Given the description of an element on the screen output the (x, y) to click on. 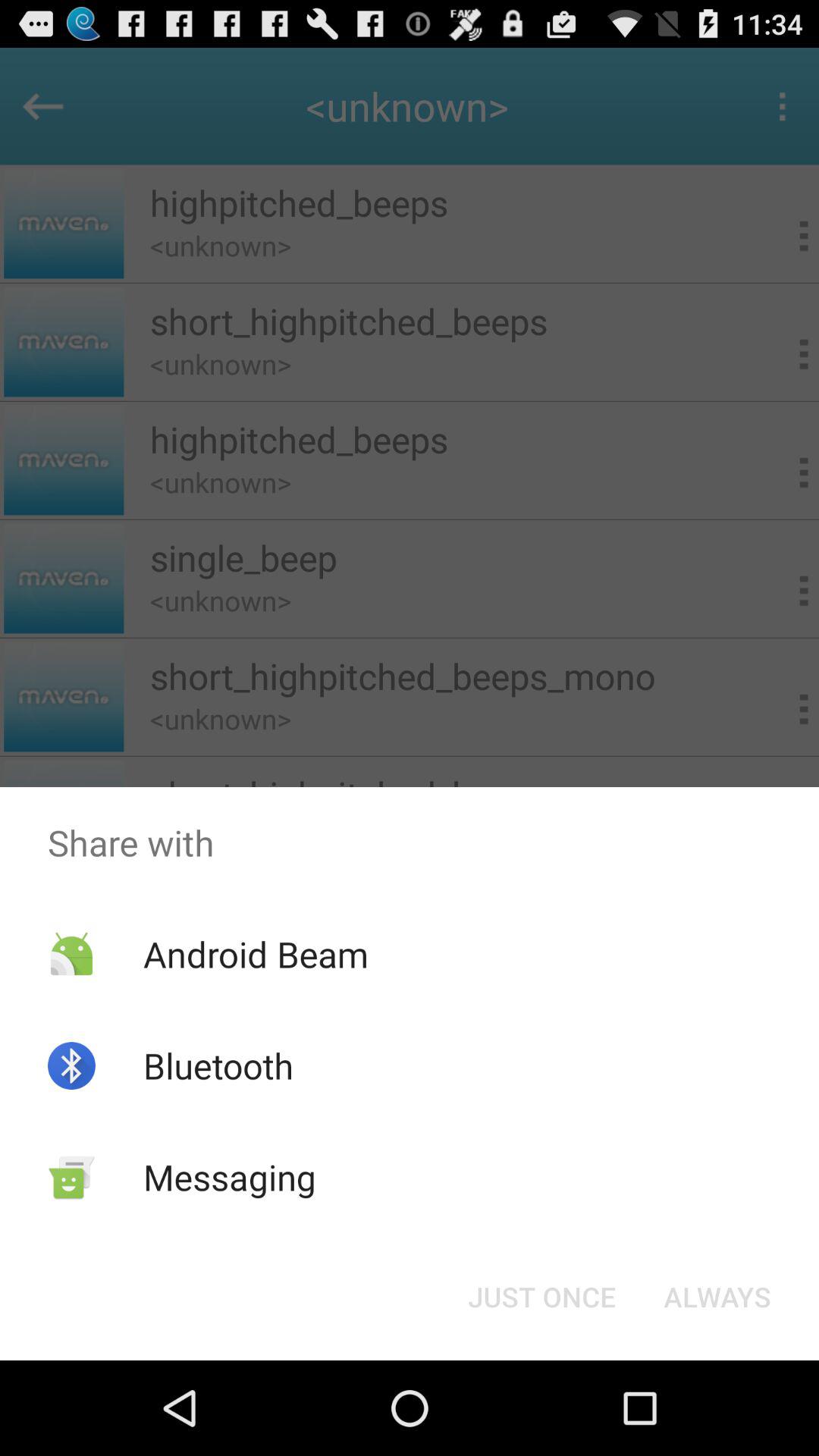
click the always (717, 1296)
